Given the description of an element on the screen output the (x, y) to click on. 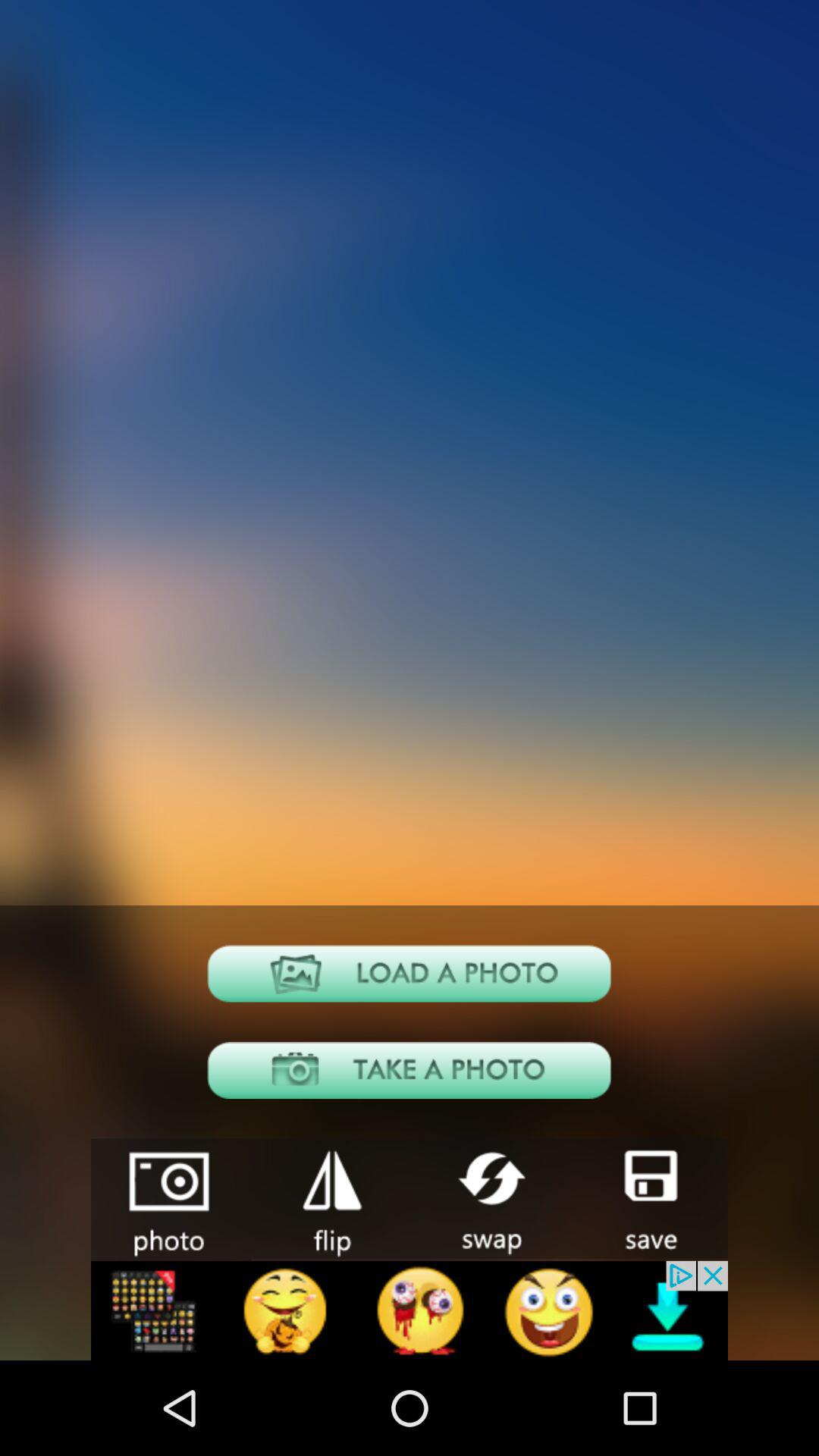
shoping in the app (330, 1198)
